Given the description of an element on the screen output the (x, y) to click on. 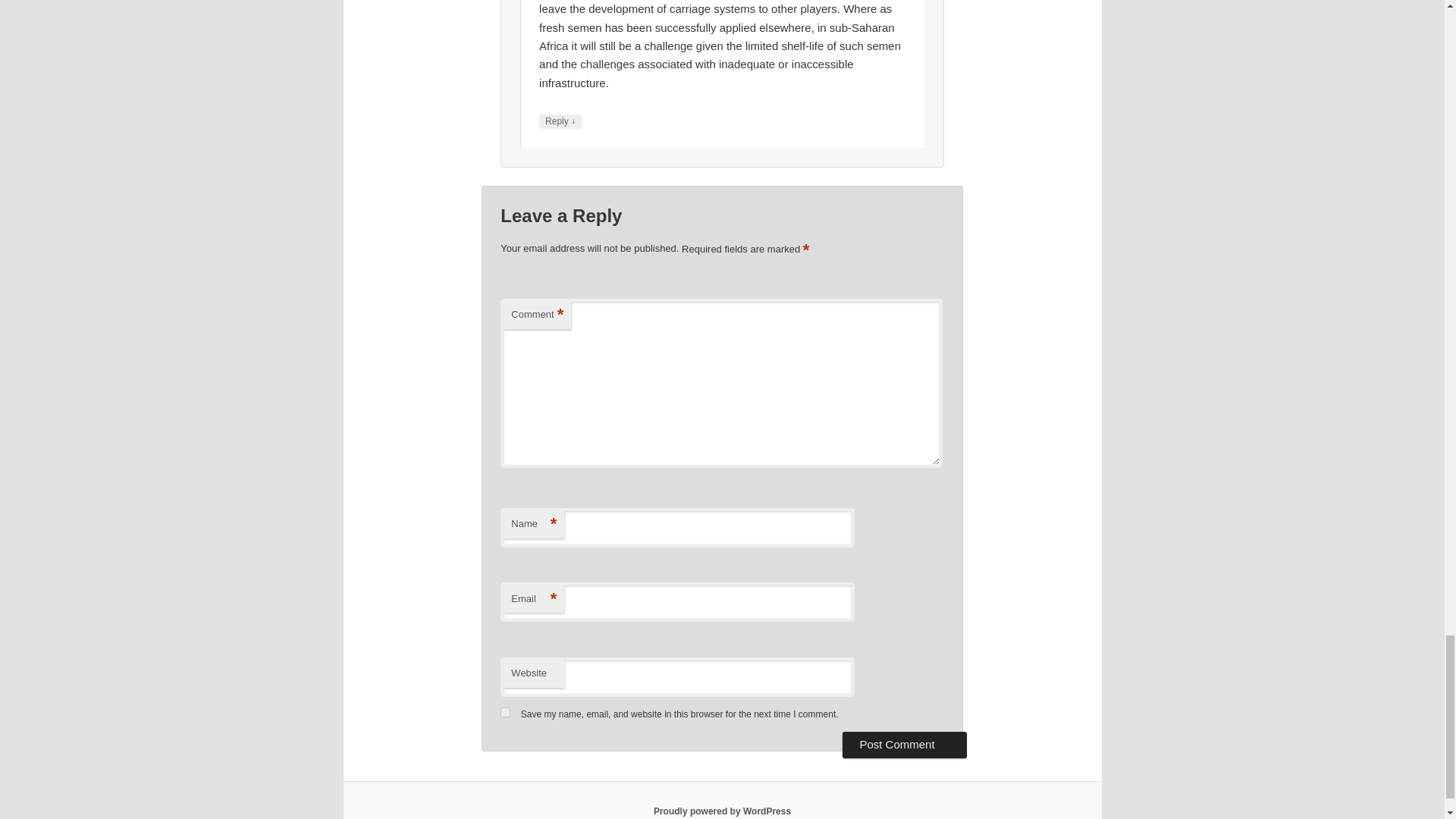
Post Comment (904, 744)
Semantic Personal Publishing Platform (721, 810)
yes (505, 712)
